Given the description of an element on the screen output the (x, y) to click on. 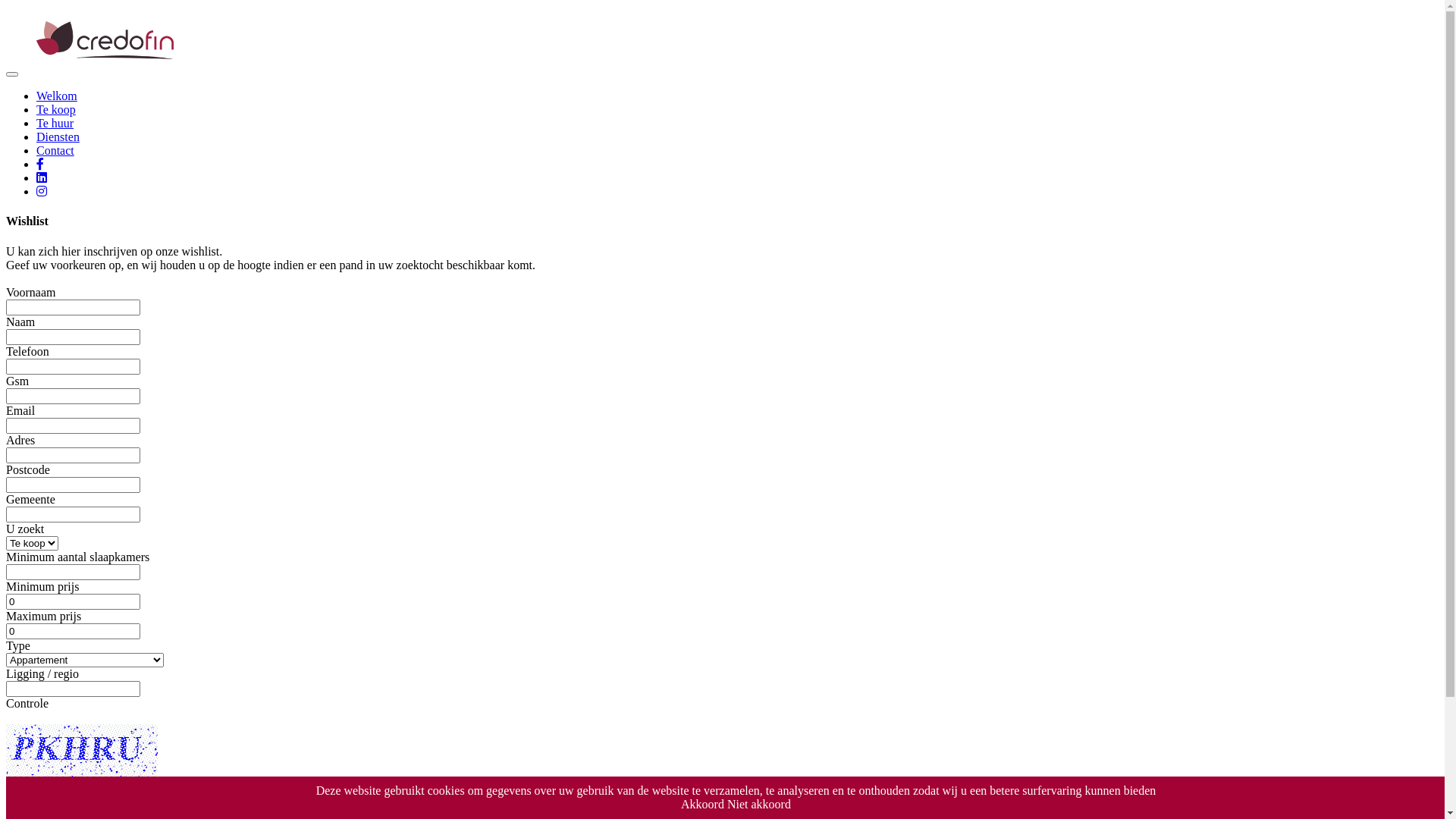
Contact Element type: text (55, 150)
Te koop Element type: text (55, 109)
Welkom Element type: text (56, 95)
Diensten Element type: text (57, 136)
Te huur Element type: text (54, 122)
